Given the description of an element on the screen output the (x, y) to click on. 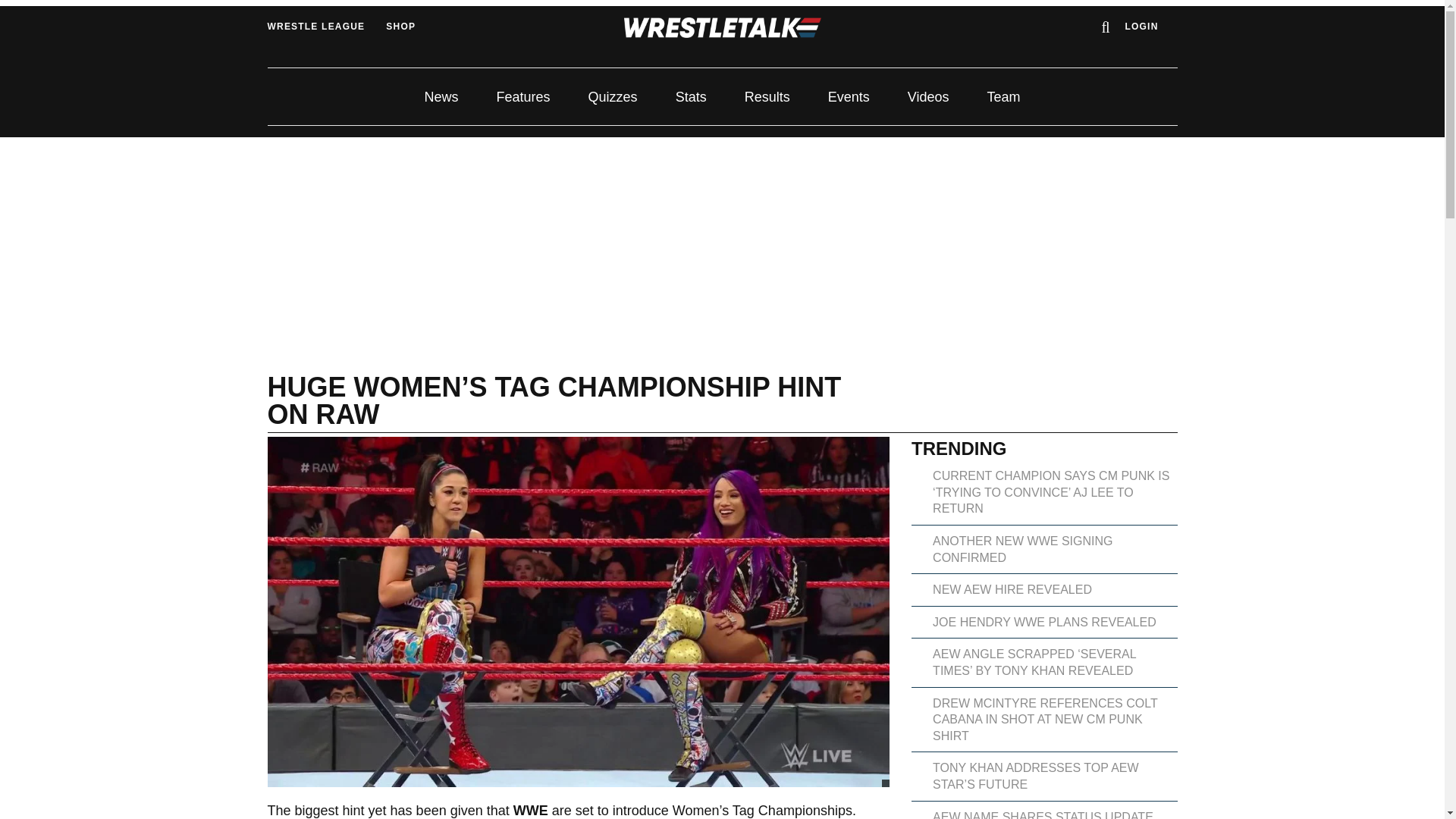
Events (848, 96)
Team (1003, 96)
SHOP (399, 26)
Features (523, 96)
News (441, 96)
Stats (690, 96)
Quizzes (612, 96)
Videos (928, 96)
LOGIN (1141, 26)
Results (767, 96)
WRESTLE LEAGUE (315, 26)
